Given the description of an element on the screen output the (x, y) to click on. 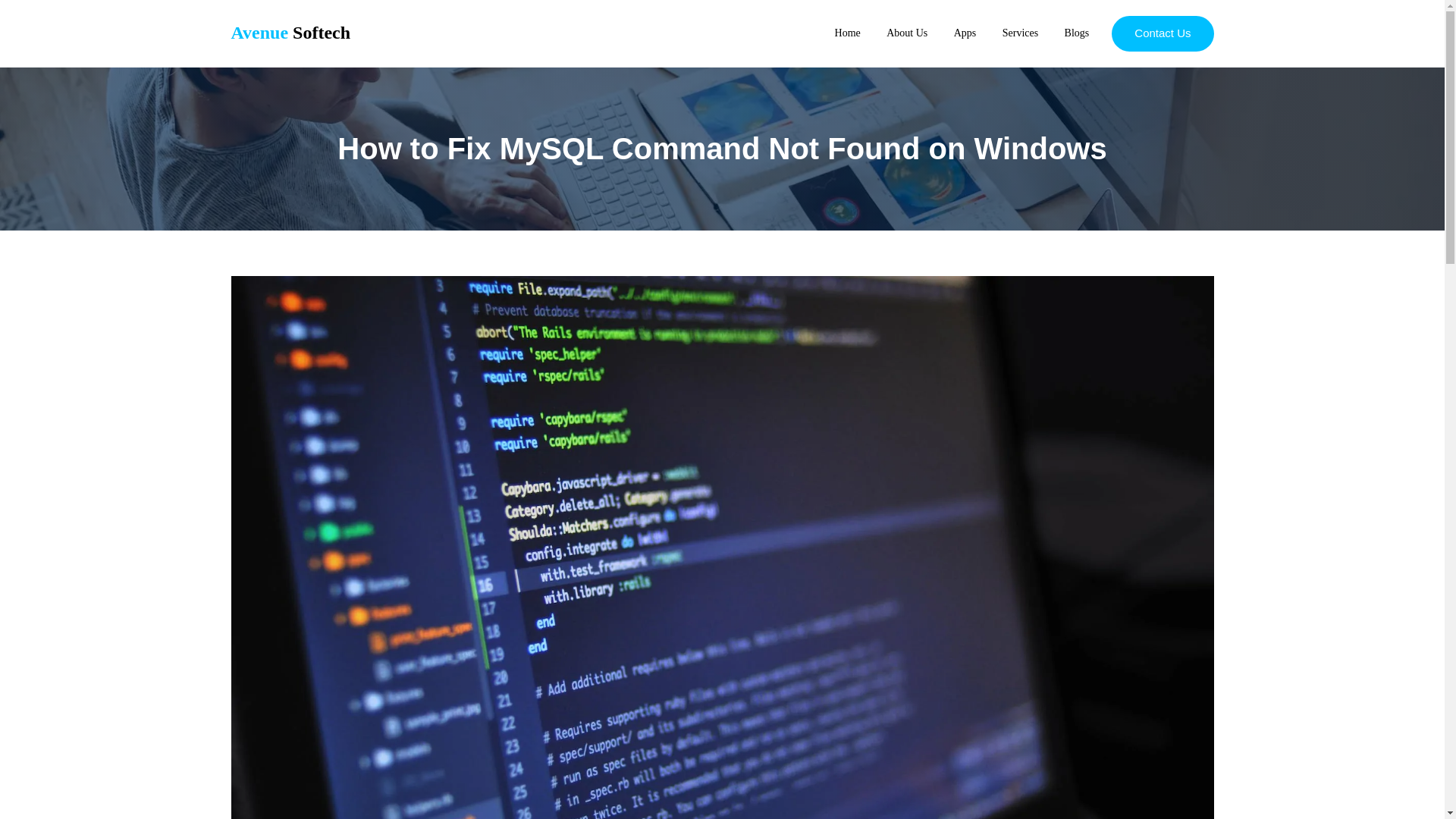
Apps (964, 32)
Contact Us (1162, 33)
AvenueSoftech (290, 32)
Home (847, 32)
Blogs (1076, 32)
About Us (906, 32)
Services (1020, 32)
